Given the description of an element on the screen output the (x, y) to click on. 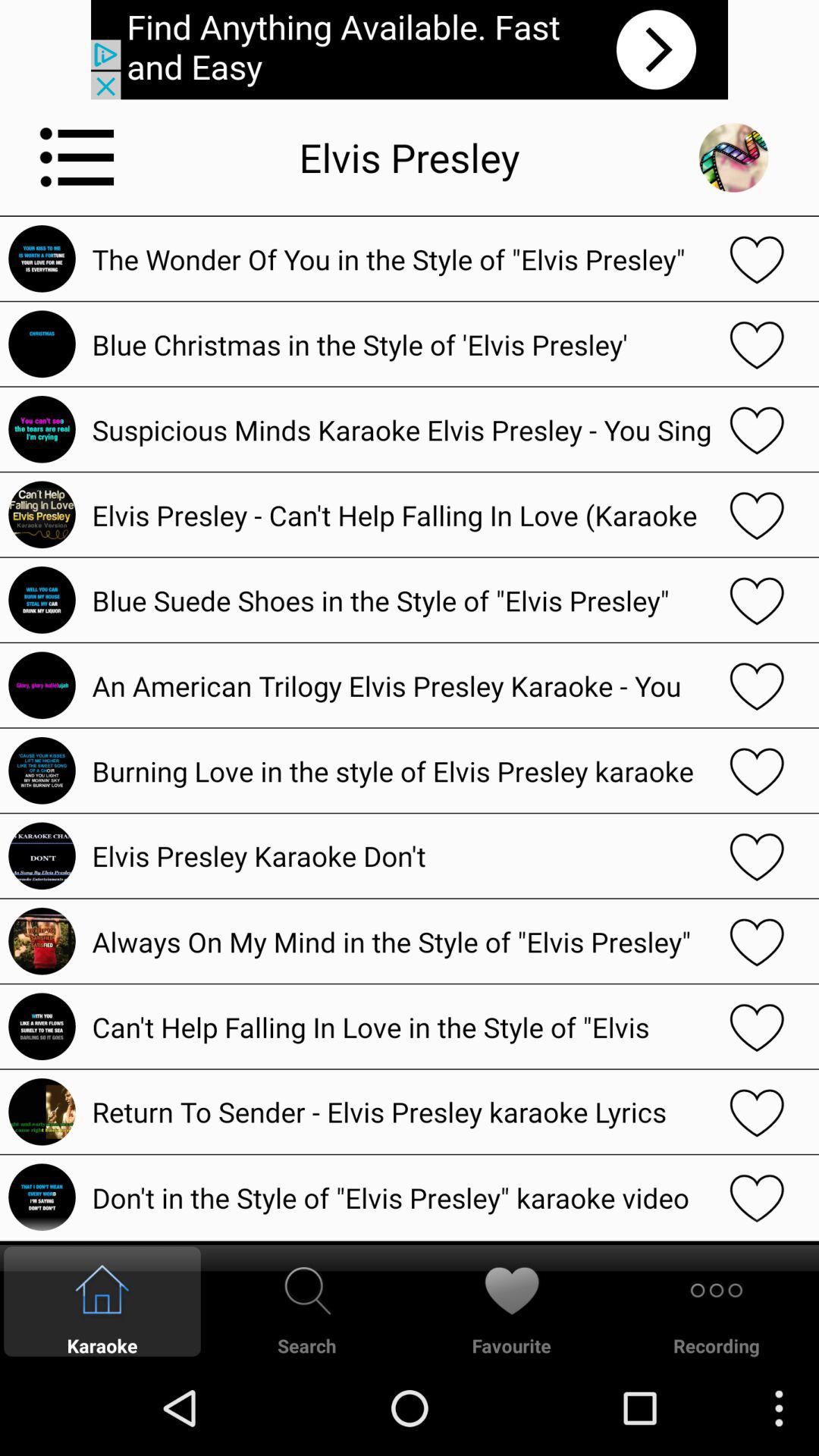
profile picture (733, 157)
